Given the description of an element on the screen output the (x, y) to click on. 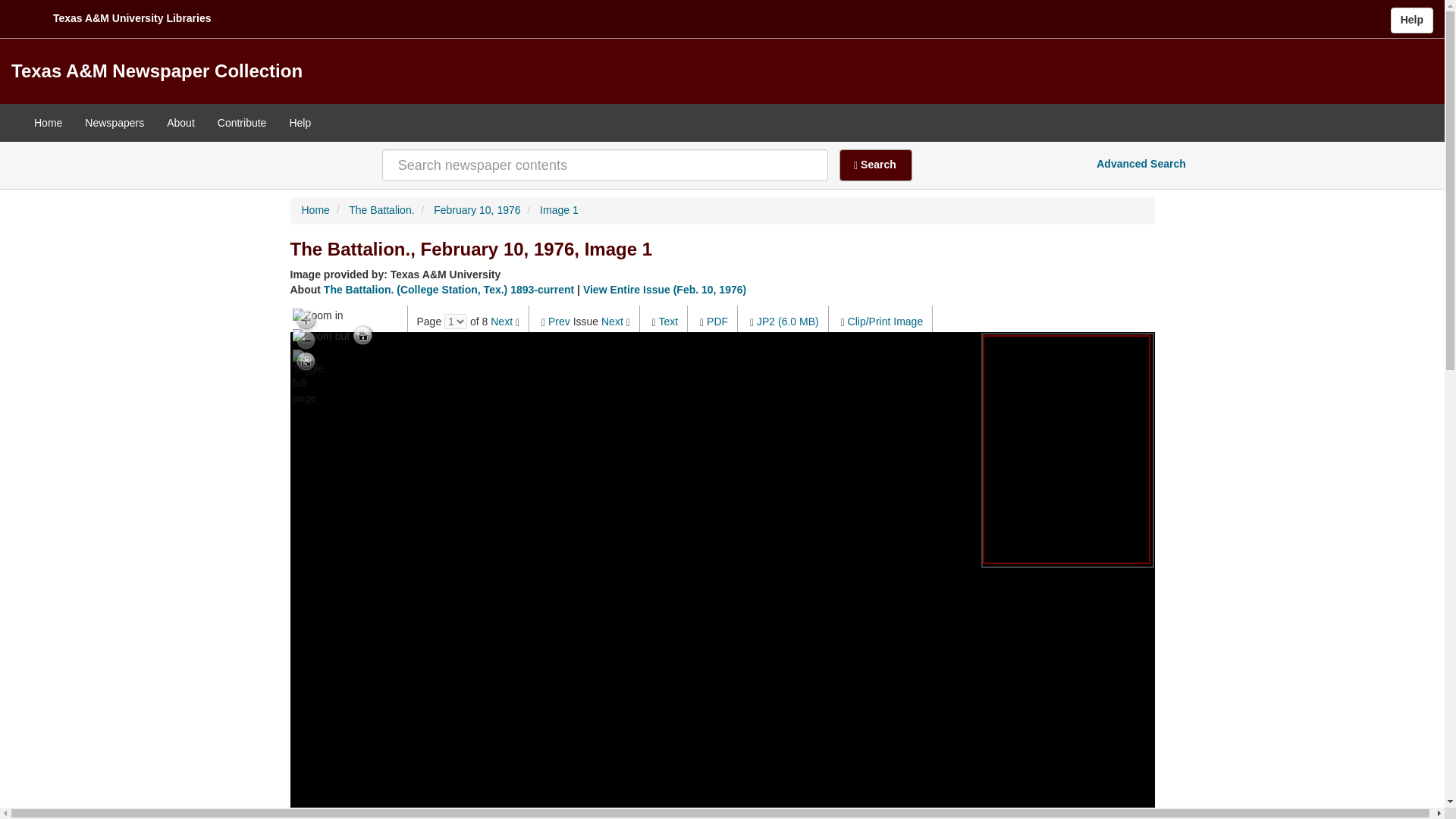
Prev (559, 321)
Text (668, 321)
Toggle full page (305, 361)
Newspapers (114, 122)
Next (501, 321)
Search (876, 164)
Advanced Search (1141, 163)
February 10, 1976 (476, 209)
Home (315, 209)
Help (1411, 20)
